Given the description of an element on the screen output the (x, y) to click on. 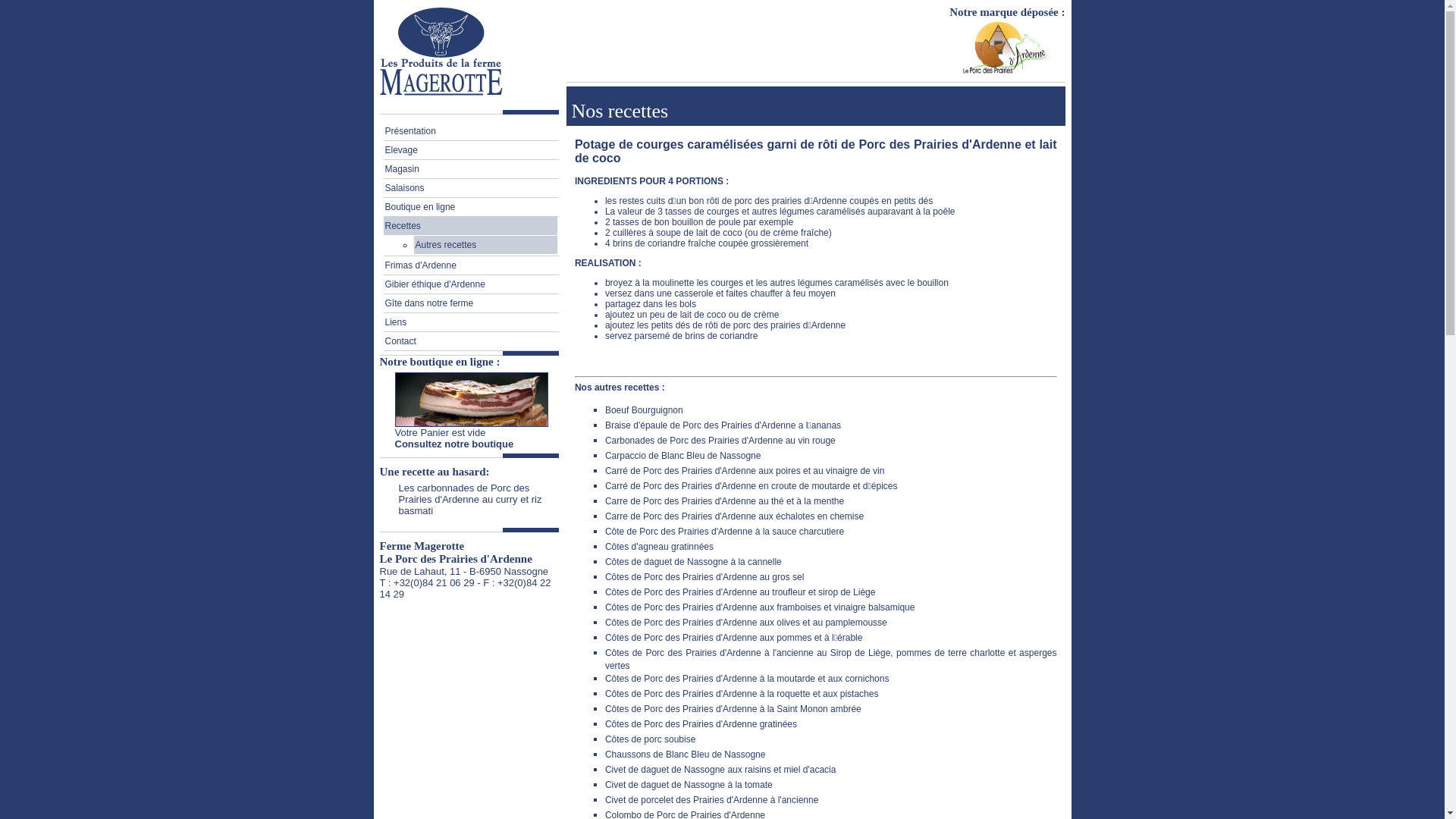
Liens Element type: text (470, 322)
Autres recettes Element type: text (485, 244)
Elevage Element type: text (470, 150)
Salaisons Element type: text (470, 187)
Contact Element type: text (470, 341)
Civet de daguet de Nassogne aux raisins et miel d'acacia Element type: text (720, 769)
Recettes Element type: text (470, 225)
Frimas d'Ardenne Element type: text (470, 265)
Chaussons de Blanc Bleu de Nassogne Element type: text (685, 754)
Carbonades de Porc des Prairies d'Ardenne au vin rouge Element type: text (720, 440)
Notre boutique en ligne : Element type: text (439, 361)
Boutique en ligne Element type: text (470, 206)
Carpaccio de Blanc Bleu de Nassogne Element type: text (682, 455)
Boeuf Bourguignon Element type: text (644, 409)
Votre Panier est vide
Consultez notre boutique Element type: text (453, 437)
Magasin Element type: text (470, 169)
